Given the description of an element on the screen output the (x, y) to click on. 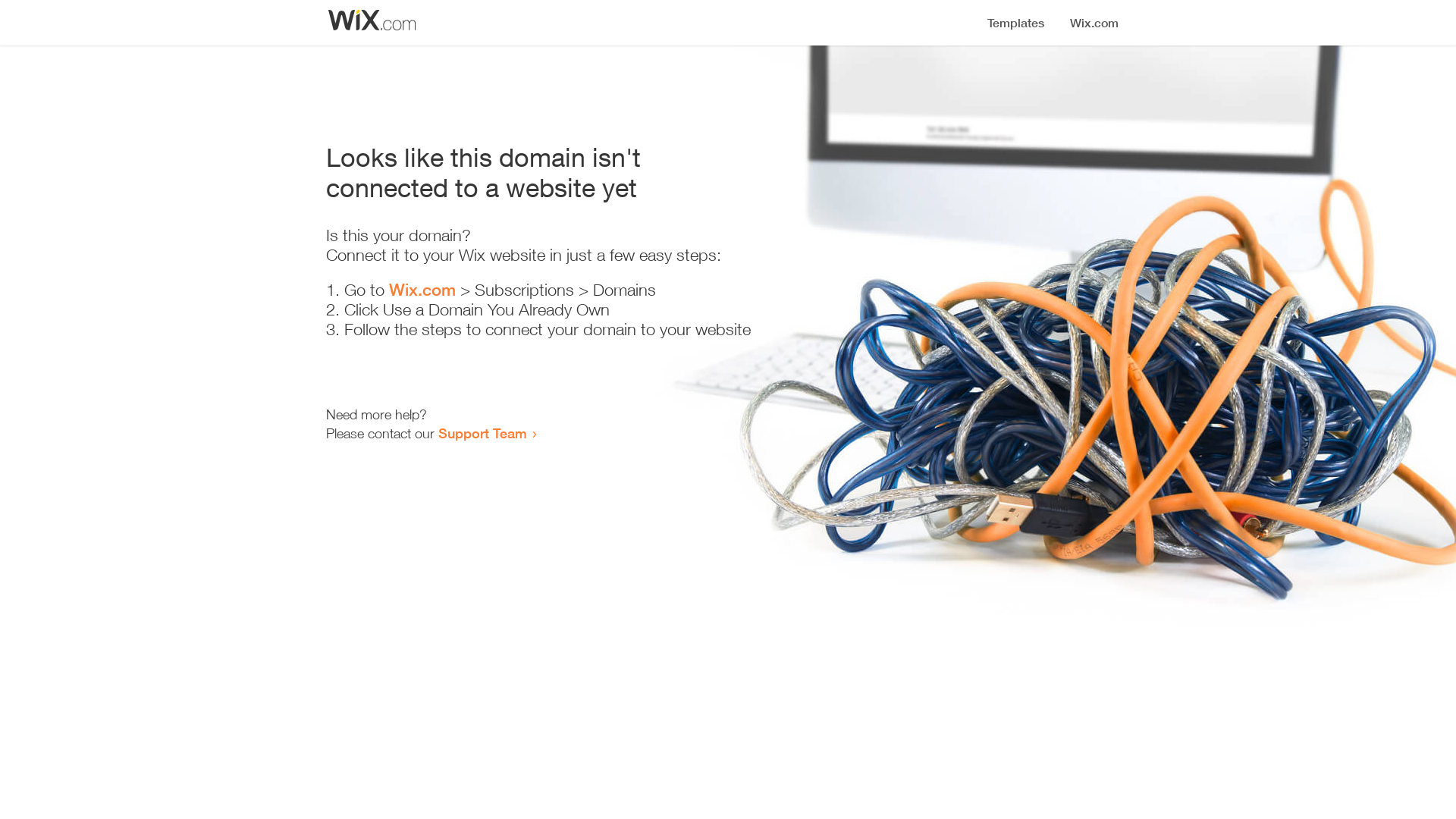
Wix.com Element type: text (422, 289)
Support Team Element type: text (482, 432)
